Given the description of an element on the screen output the (x, y) to click on. 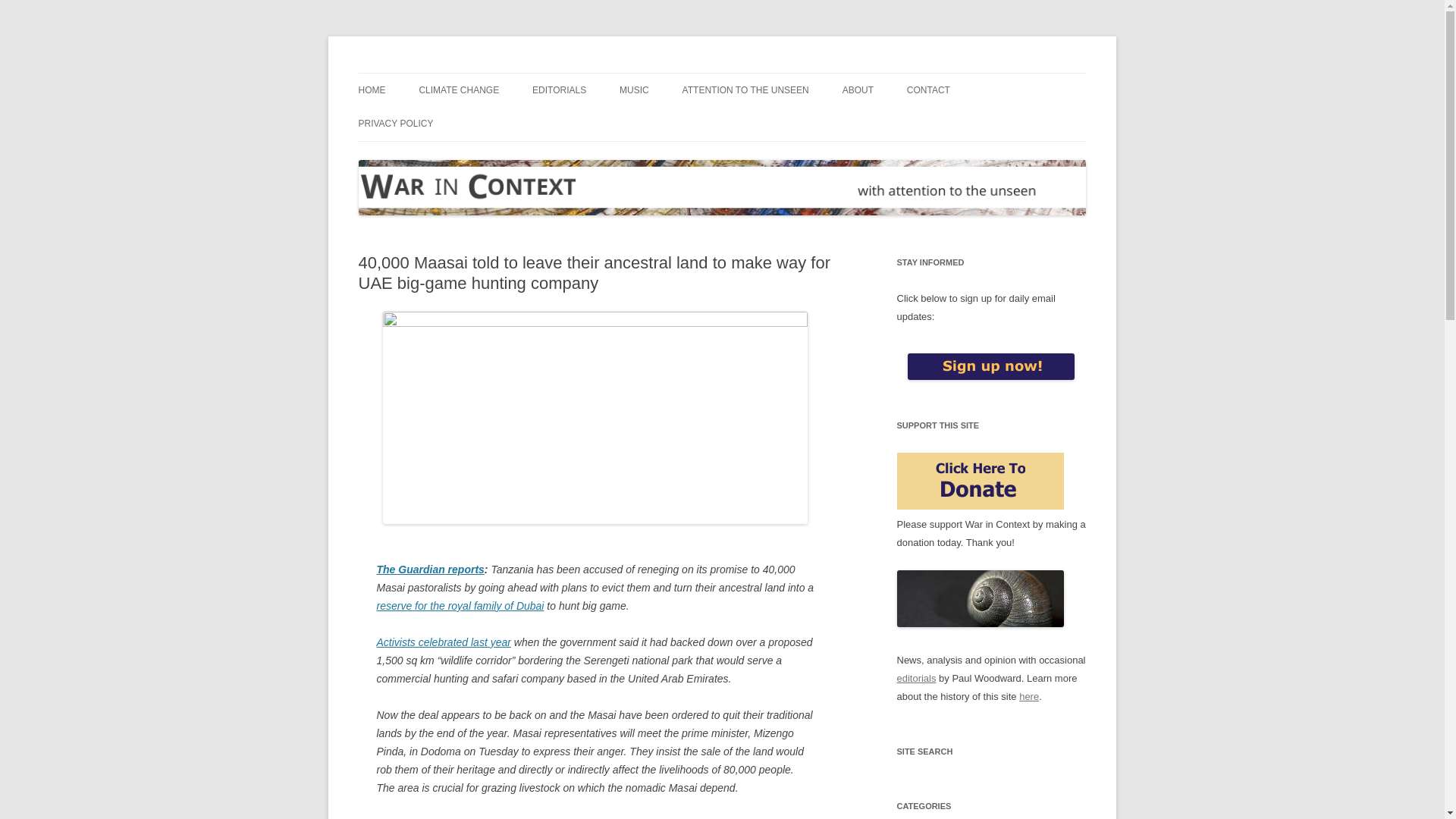
ABOUT (858, 90)
War in Context (427, 72)
EDITORIALS (559, 90)
here (1029, 696)
ATTENTION TO THE UNSEEN (745, 90)
reserve for the royal family of Dubai (459, 605)
Activists celebrated last year (443, 642)
The Guardian reports (429, 569)
editorials (916, 677)
